Given the description of an element on the screen output the (x, y) to click on. 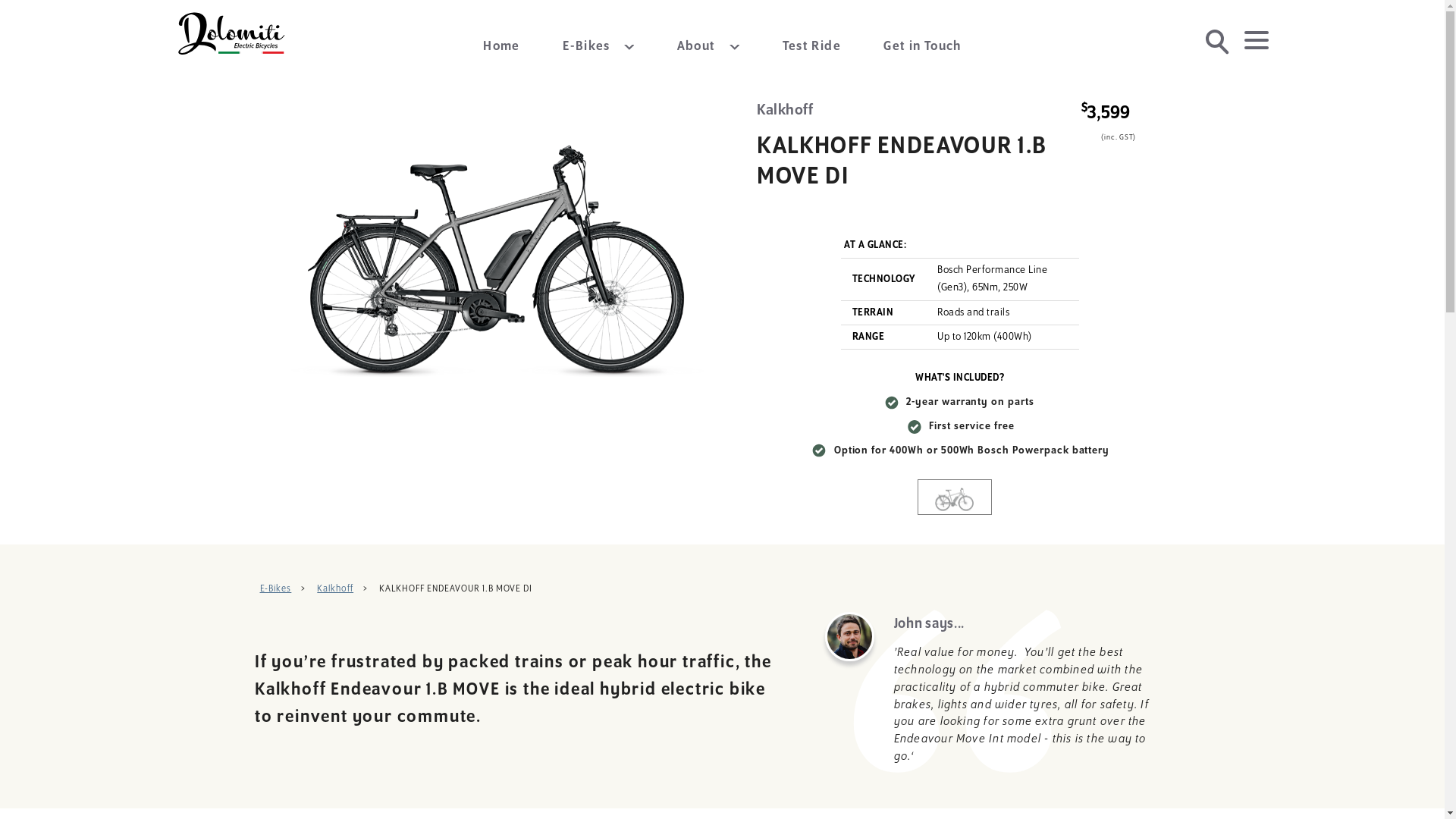
Dolomiti Electric Bicycles Element type: text (232, 33)
E-Bikes Element type: text (598, 46)
Test Ride Element type: text (811, 46)
E-Bikes Element type: text (275, 588)
Kalkhoff Element type: text (334, 588)
Home Element type: text (501, 46)
About Element type: text (707, 46)
Get in Touch Element type: text (922, 46)
